Given the description of an element on the screen output the (x, y) to click on. 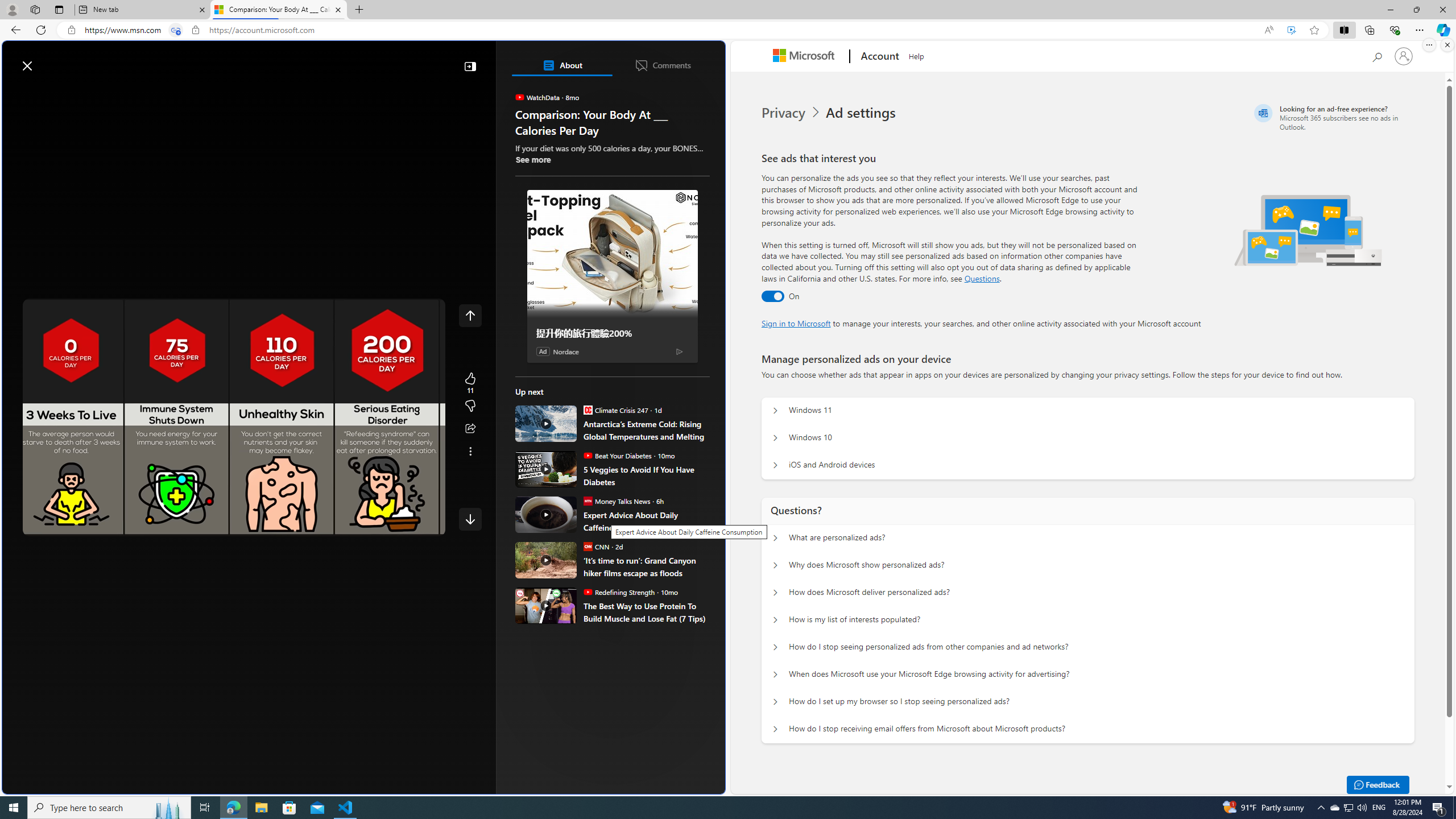
Expert Advice About Daily Caffeine Consumption (646, 520)
Refresh (40, 29)
Settings and more (Alt+F) (1419, 29)
Money Talks News (587, 500)
Subtitles/closed captions unavailable (343, 525)
Open settings (699, 60)
Browser essentials (1394, 29)
Web search (161, 60)
Seek slider (233, 512)
Ad Choice (678, 350)
More like this11Fewer like this (469, 394)
Sign in to Microsoft (796, 323)
Close (1442, 9)
